Given the description of an element on the screen output the (x, y) to click on. 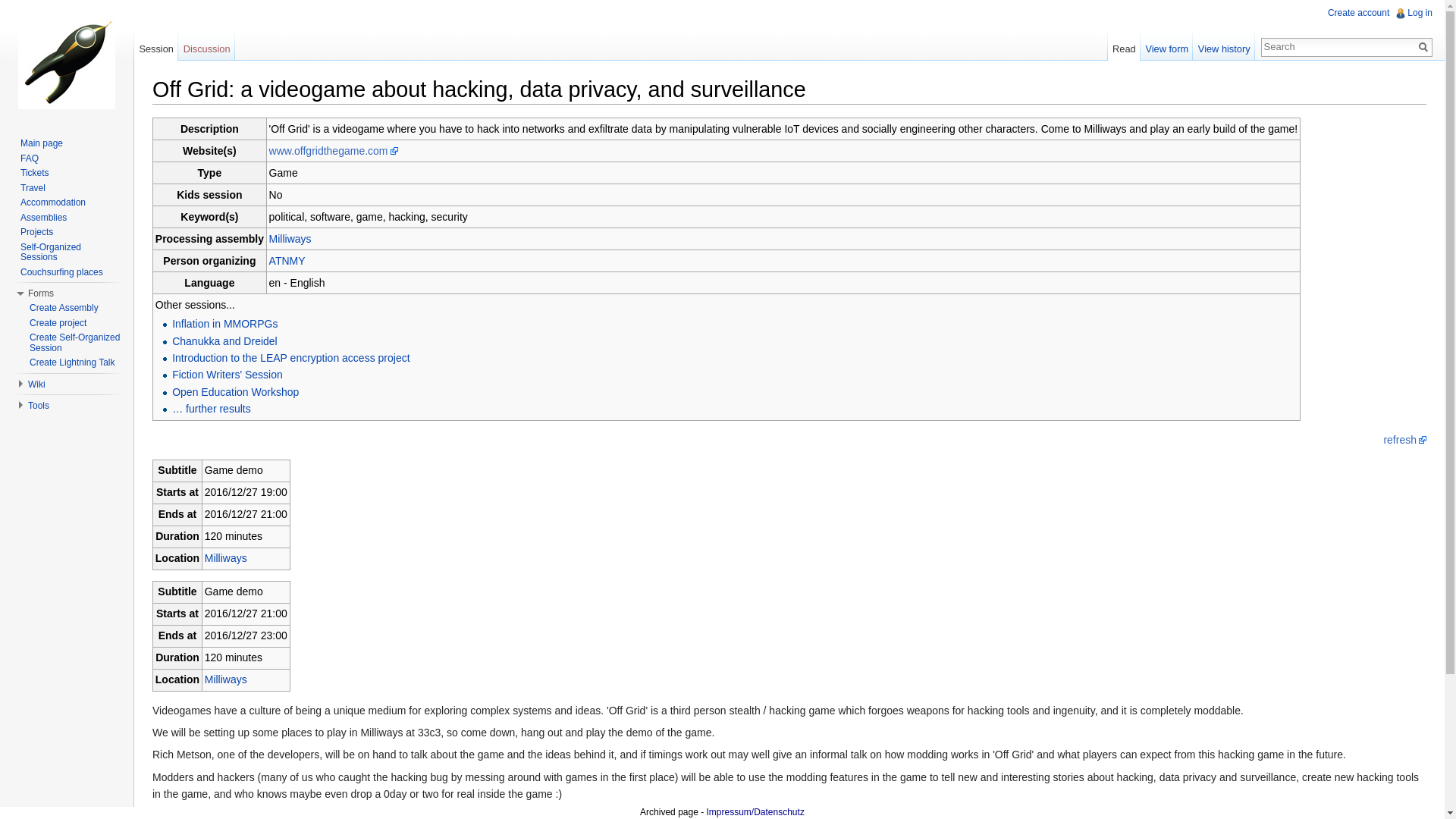
Introduction to the LEAP encryption access project (290, 357)
Session:Inflation in MMORPGs (224, 323)
Log in (1419, 12)
Milliways (290, 238)
Chanukka and Dreidel (224, 340)
Main page (41, 143)
View form (1166, 45)
refresh (1404, 439)
Assembly:Milliways (226, 679)
Read (1124, 45)
